Given the description of an element on the screen output the (x, y) to click on. 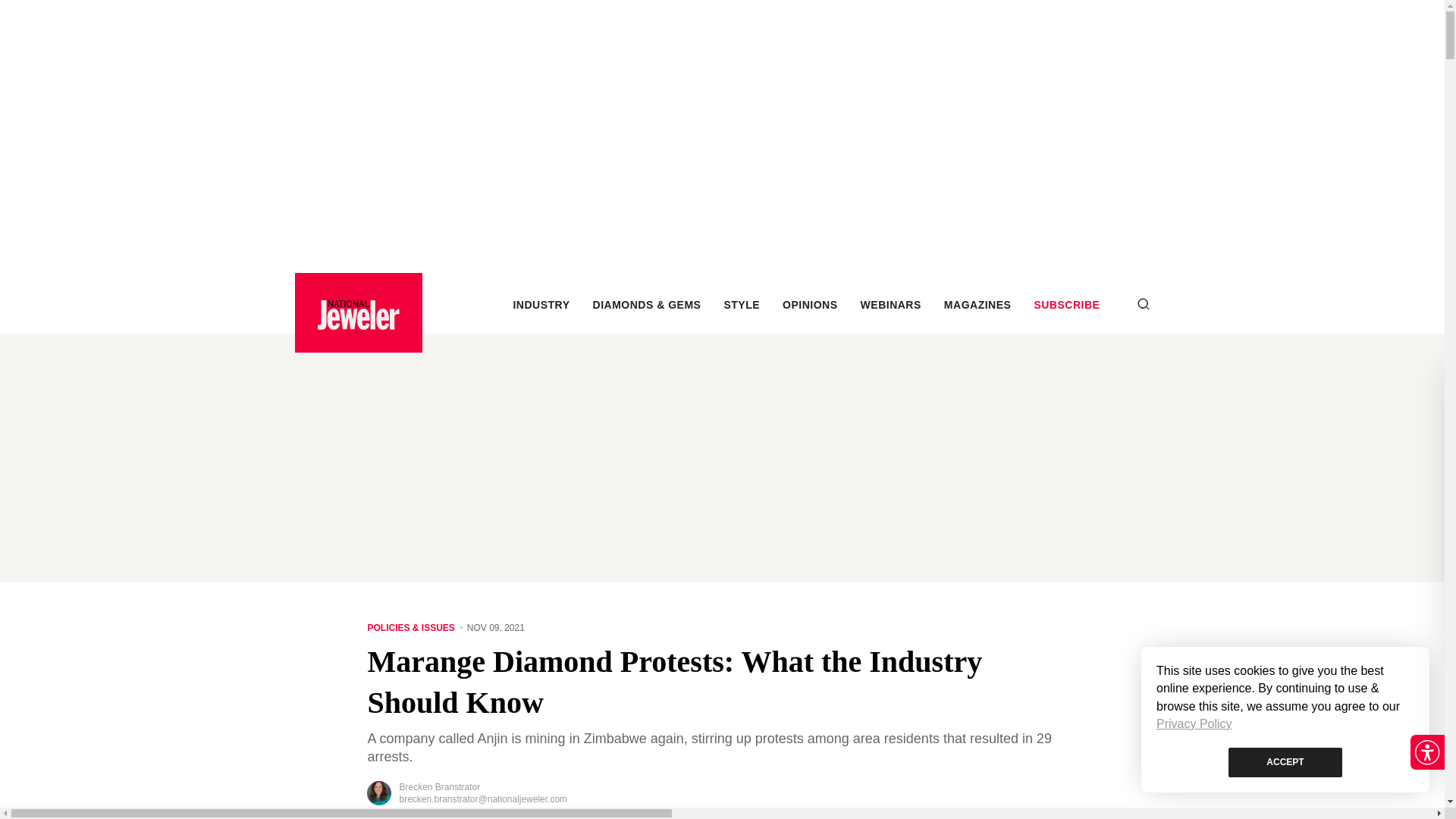
WEBINARS (890, 304)
MAGAZINES (977, 304)
OPINIONS (810, 304)
INDUSTRY (540, 304)
STYLE (741, 304)
SUBSCRIBE (1066, 304)
